Given the description of an element on the screen output the (x, y) to click on. 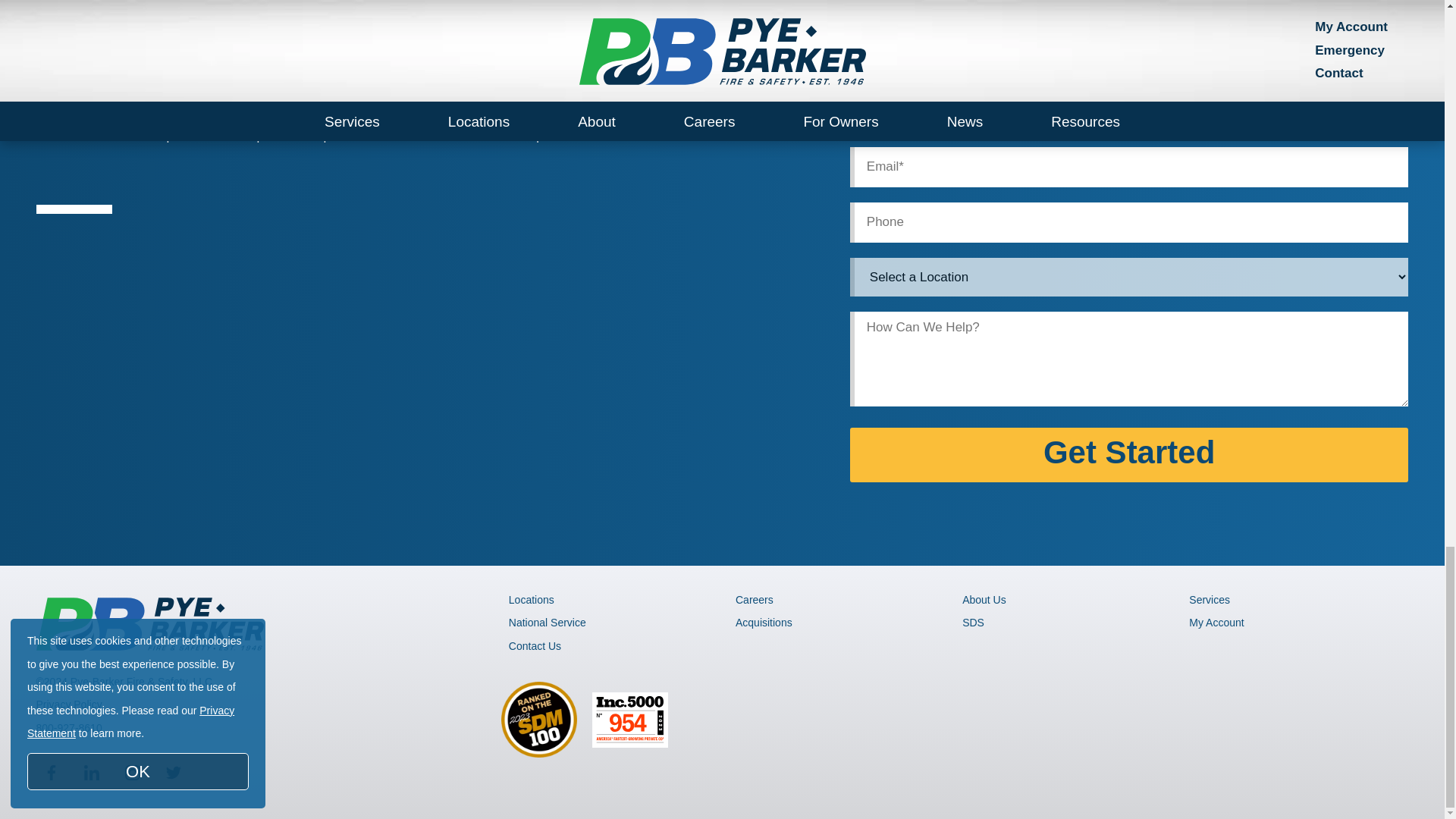
Get Started (1129, 454)
